Given the description of an element on the screen output the (x, y) to click on. 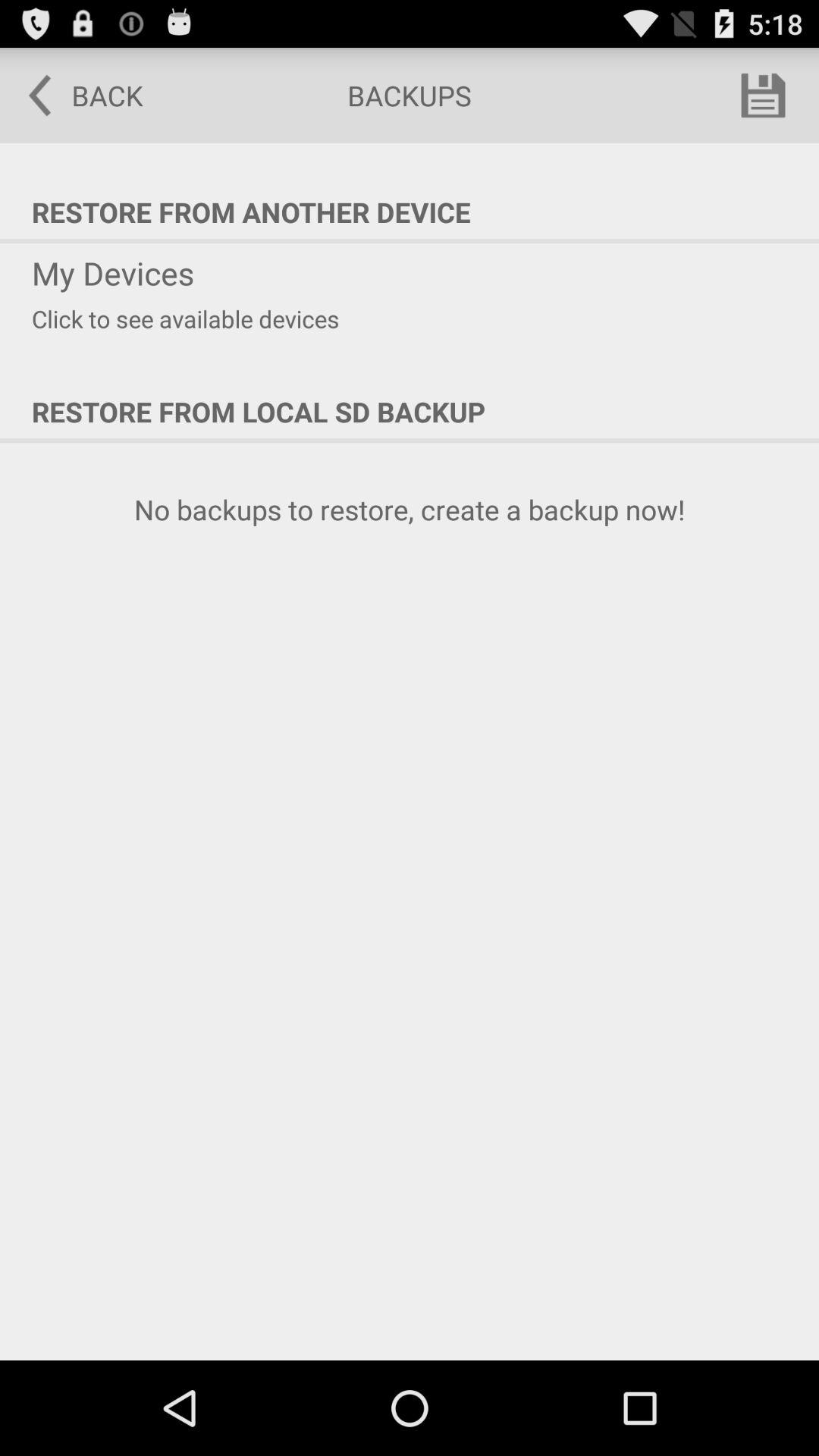
turn on the item above restore from another icon (763, 95)
